Given the description of an element on the screen output the (x, y) to click on. 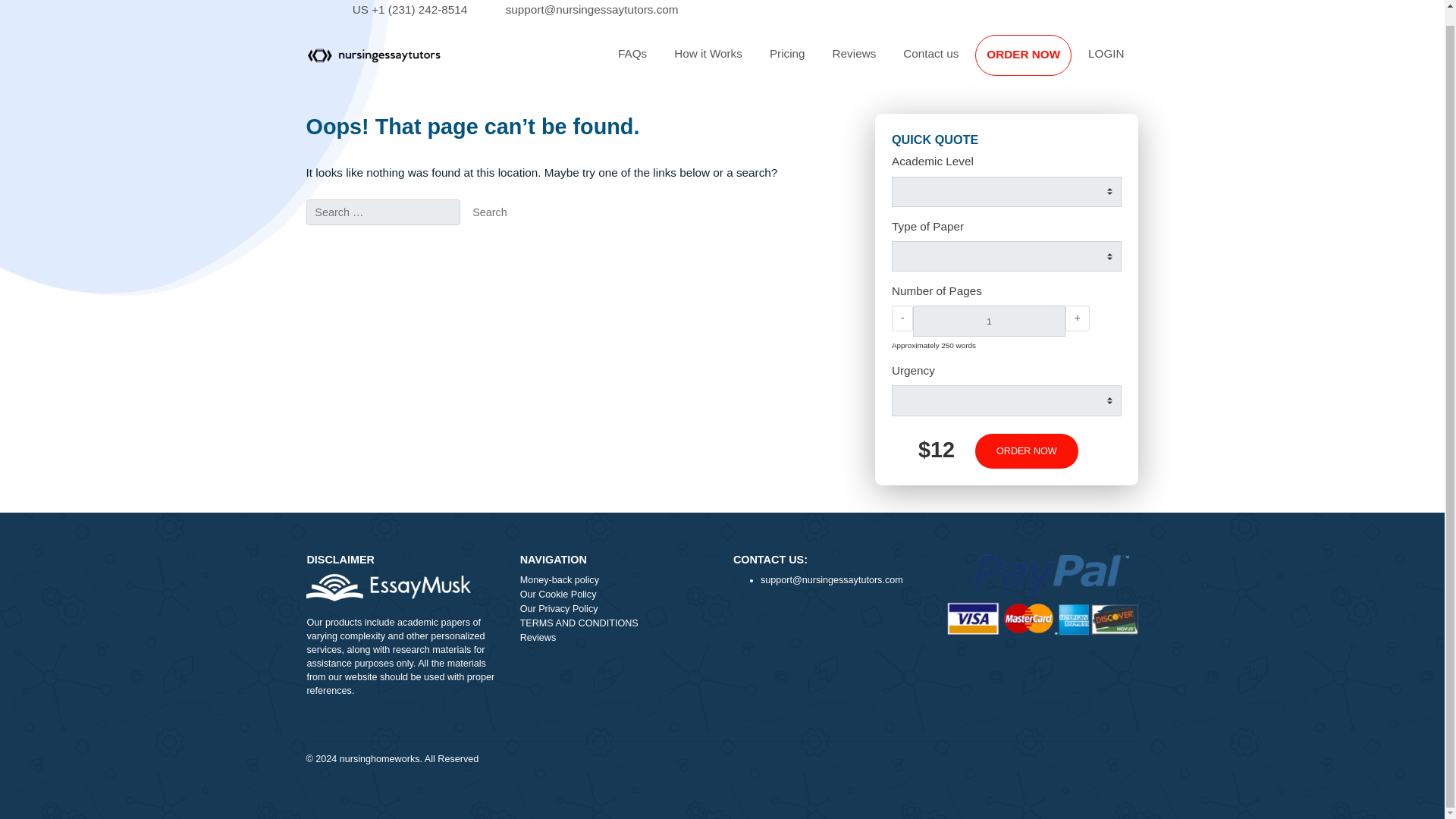
LOGIN (1229, 61)
LOGIN (1229, 61)
How it Works (786, 61)
Reviews (685, 710)
Contact us (1034, 61)
Pricing (875, 61)
FAQs (702, 61)
ORDER NOW (1137, 62)
Our Privacy Policy (685, 678)
Search (544, 237)
